Given the description of an element on the screen output the (x, y) to click on. 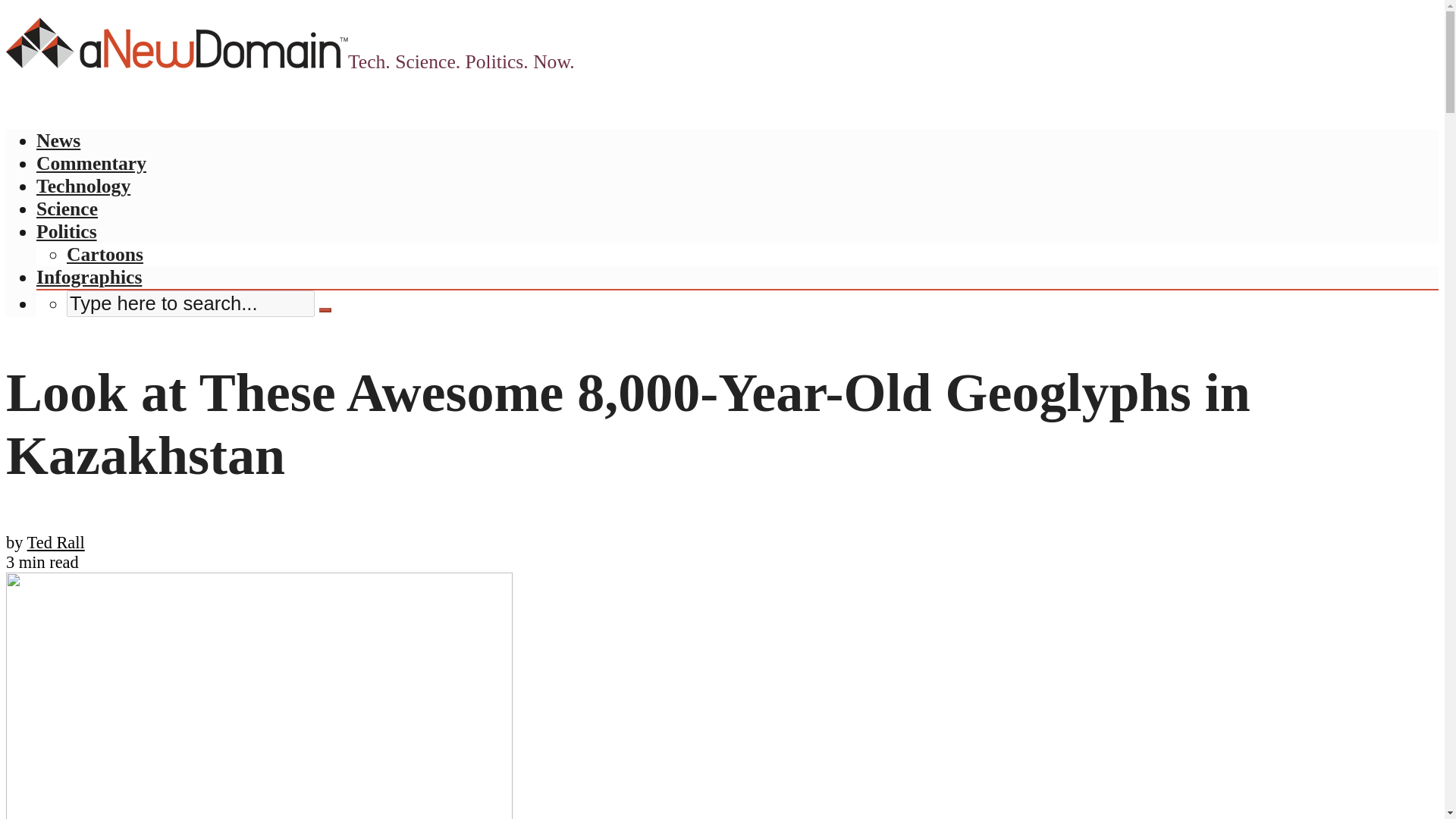
Cartoons (104, 254)
Type here to search... (190, 303)
Infographics (88, 277)
Politics (66, 231)
Type here to search... (190, 303)
News (58, 140)
Technology (83, 186)
Ted Rall (55, 542)
Commentary (91, 163)
Science (66, 209)
